Given the description of an element on the screen output the (x, y) to click on. 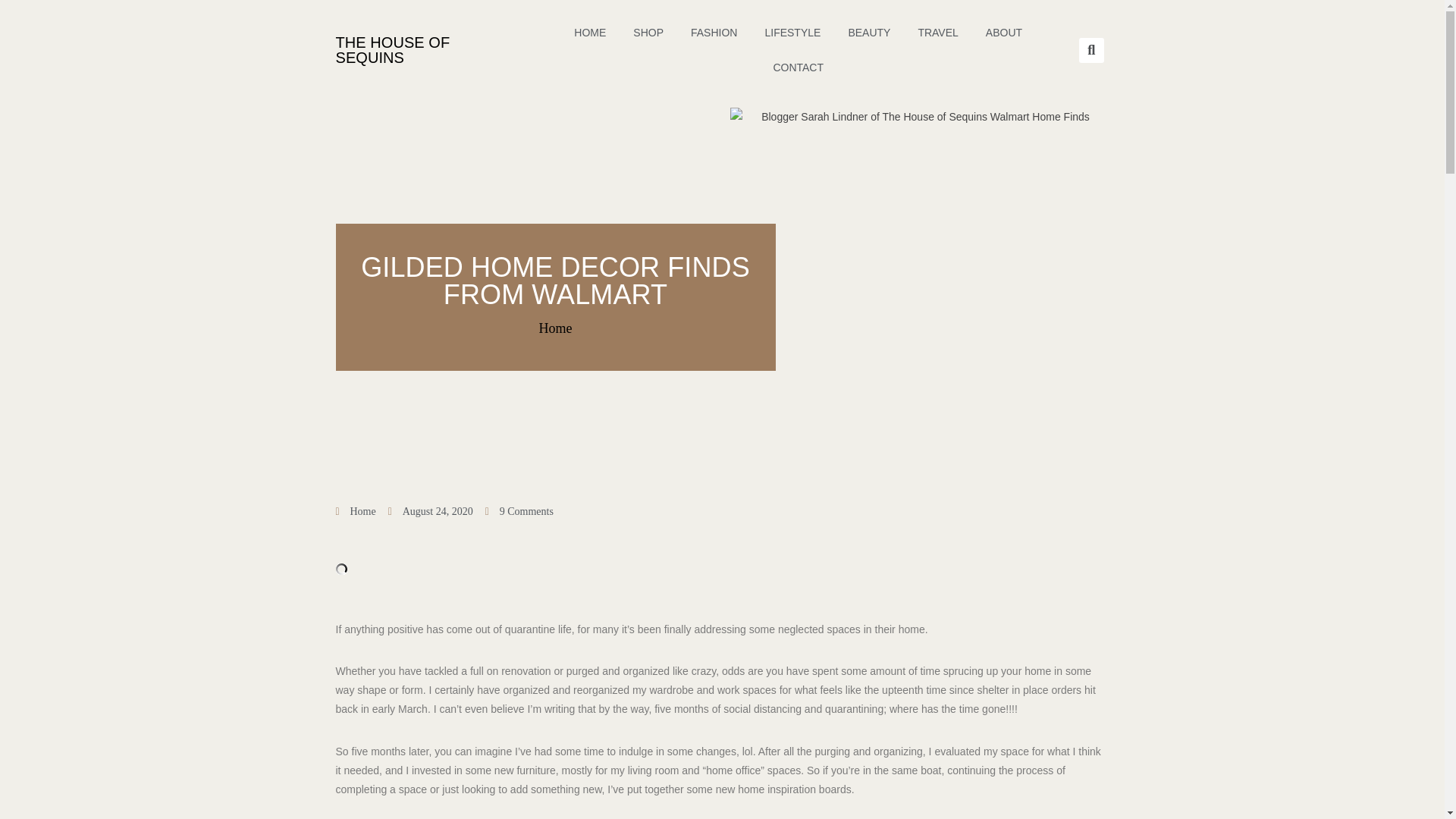
Home (362, 511)
LIFESTYLE (792, 32)
Home (555, 328)
CONTACT (797, 67)
ABOUT (1003, 32)
SHOP (648, 32)
THE HOUSE OF SEQUINS (391, 50)
TRAVEL (937, 32)
HOME (590, 32)
BEAUTY (869, 32)
